Given the description of an element on the screen output the (x, y) to click on. 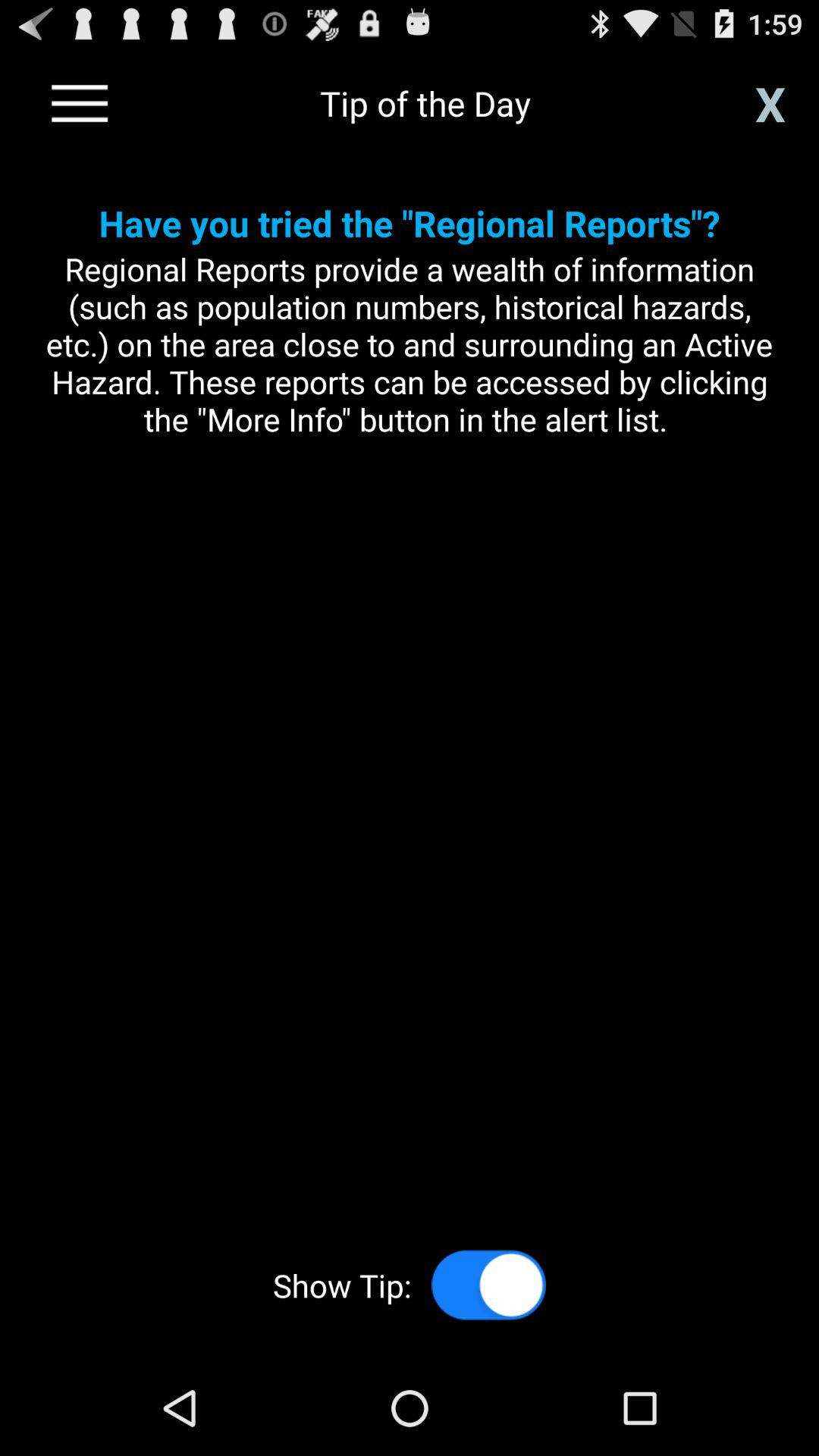
disable tips (488, 1285)
